Given the description of an element on the screen output the (x, y) to click on. 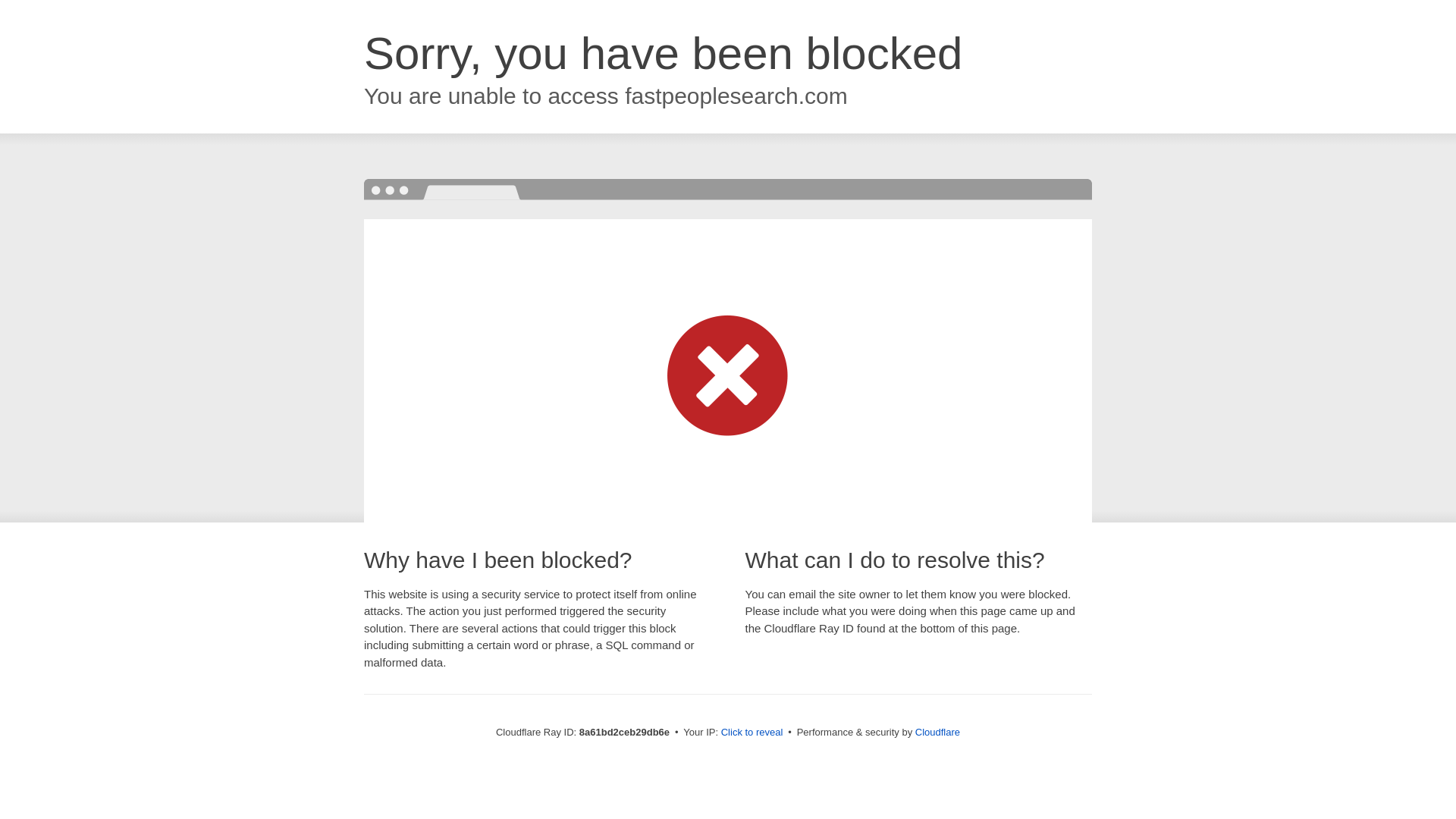
Cloudflare (937, 731)
Click to reveal (751, 732)
